Given the description of an element on the screen output the (x, y) to click on. 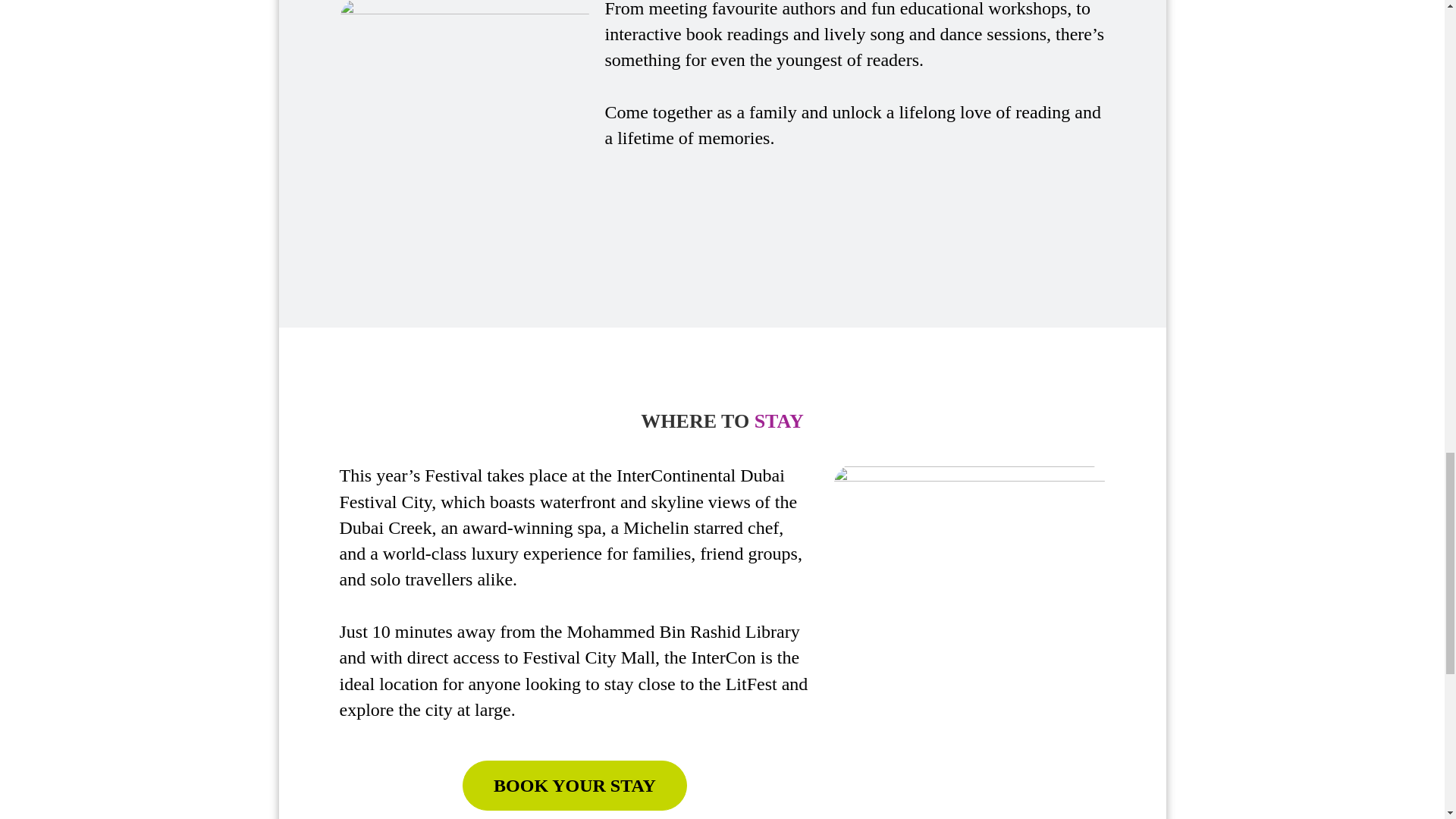
BOOK YOUR STAY (722, 785)
